Given the description of an element on the screen output the (x, y) to click on. 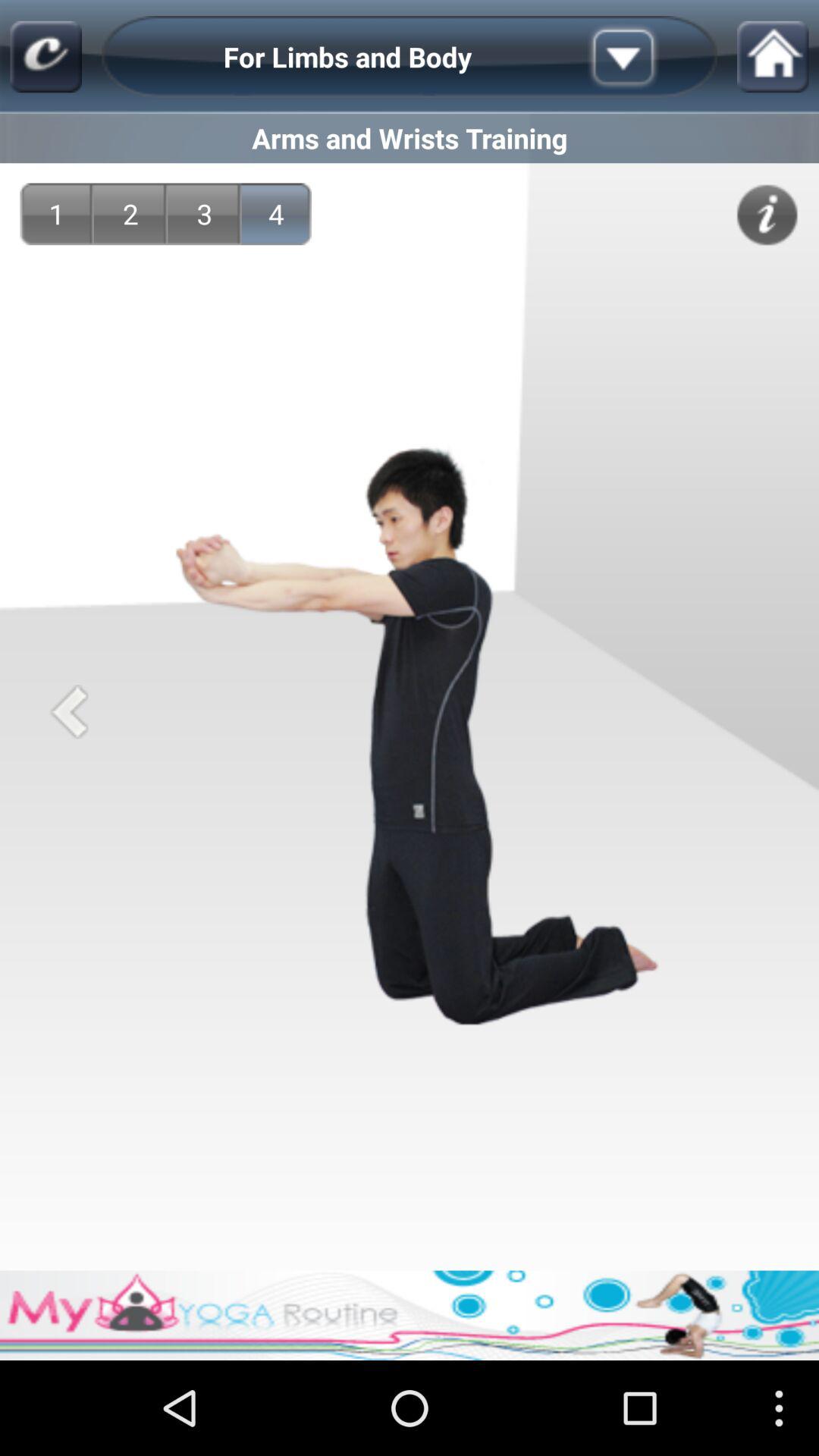
go home (772, 56)
